Given the description of an element on the screen output the (x, y) to click on. 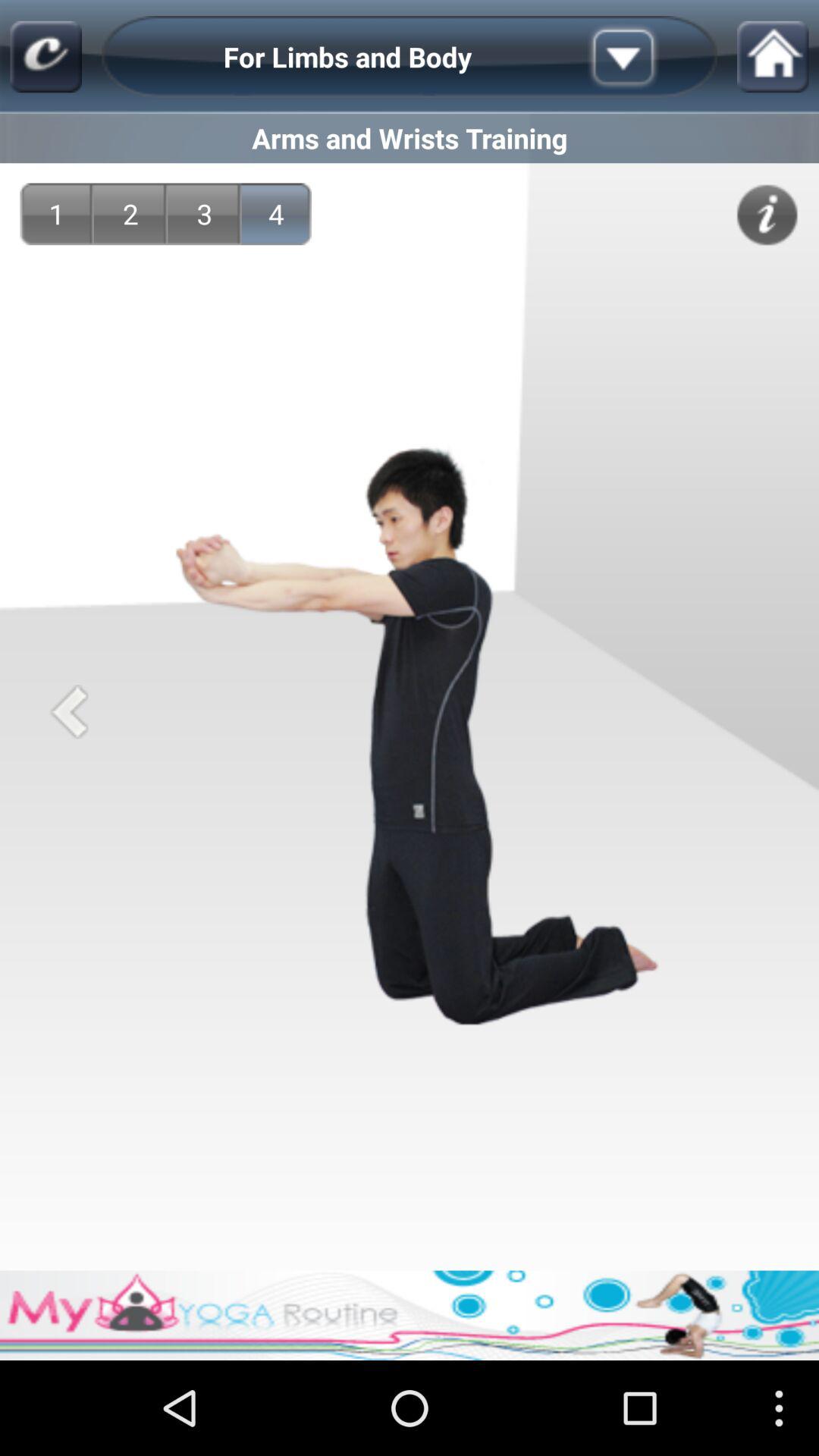
go home (772, 56)
